Given the description of an element on the screen output the (x, y) to click on. 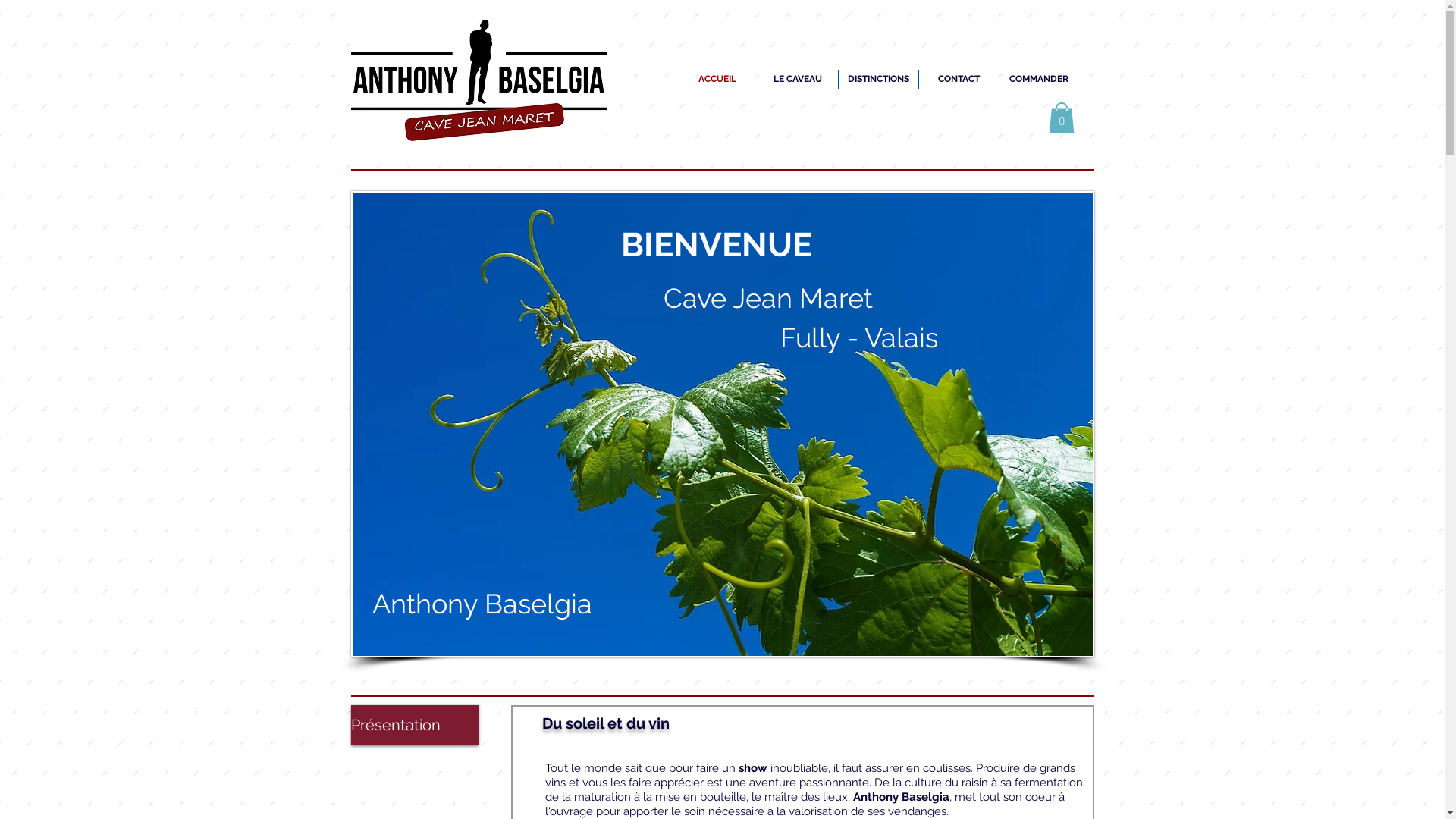
LE CAVEAU Element type: text (797, 78)
0 Element type: text (1060, 117)
ACCUEIL Element type: text (716, 78)
CONTACT Element type: text (958, 78)
COMMANDER Element type: text (1039, 78)
DISTINCTIONS Element type: text (878, 78)
